Given the description of an element on the screen output the (x, y) to click on. 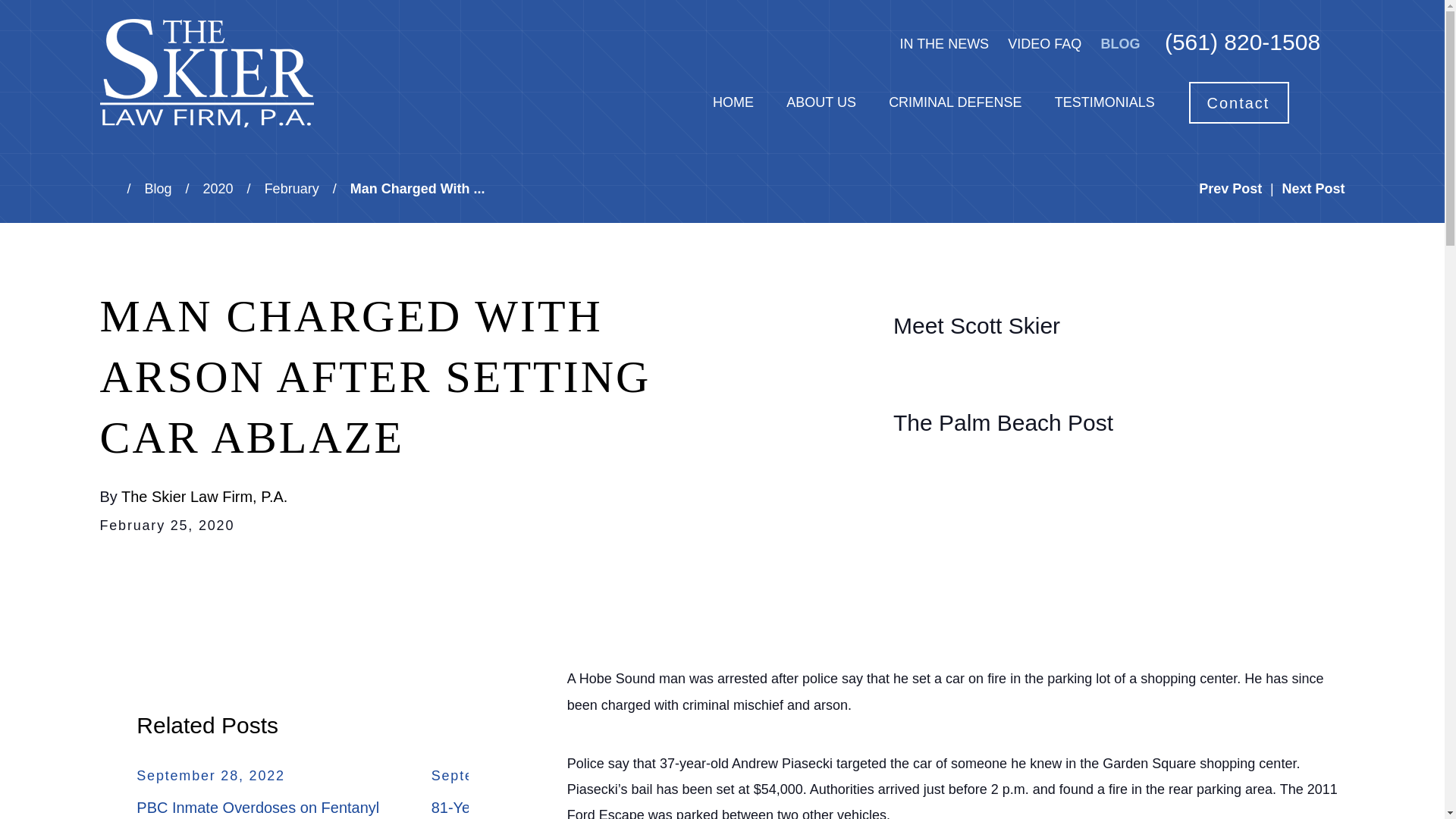
The Skier Law Firm (207, 72)
VIDEO FAQ (1044, 43)
ABOUT US (821, 102)
CRIMINAL DEFENSE (955, 102)
Open the accessibility options menu (31, 786)
Go Home (114, 188)
BLOG (1120, 43)
IN THE NEWS (943, 43)
HOME (733, 102)
